Given the description of an element on the screen output the (x, y) to click on. 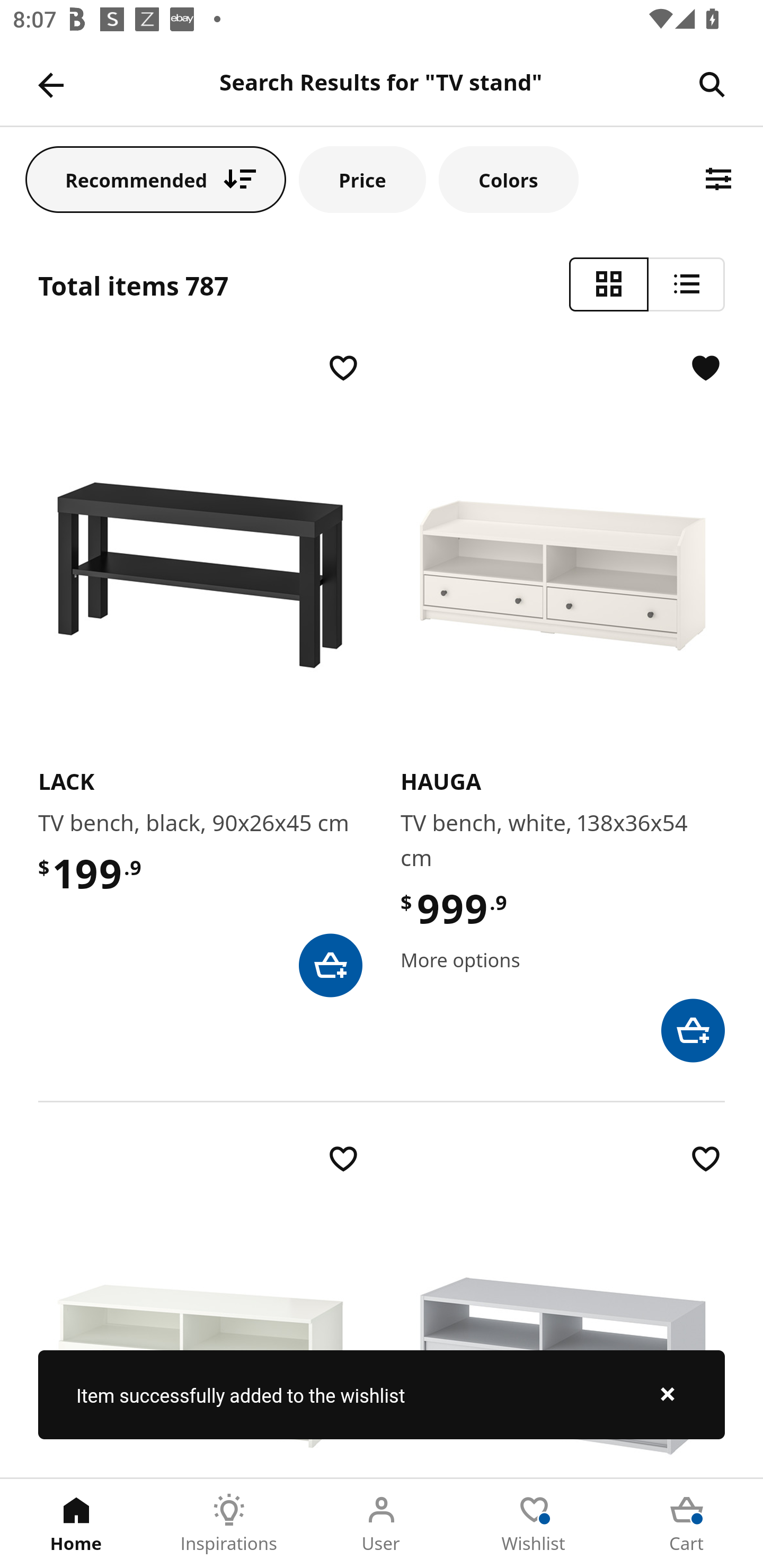
Recommended (155, 179)
Price (362, 179)
Colors (508, 179)
​L​A​C​K​
TV bench, black, 90x26x45 cm
$
199
.9 (200, 673)
Item successfully added to the wishlist (381, 1394)
Home
Tab 1 of 5 (76, 1522)
Inspirations
Tab 2 of 5 (228, 1522)
User
Tab 3 of 5 (381, 1522)
Wishlist
Tab 4 of 5 (533, 1522)
Cart
Tab 5 of 5 (686, 1522)
